Given the description of an element on the screen output the (x, y) to click on. 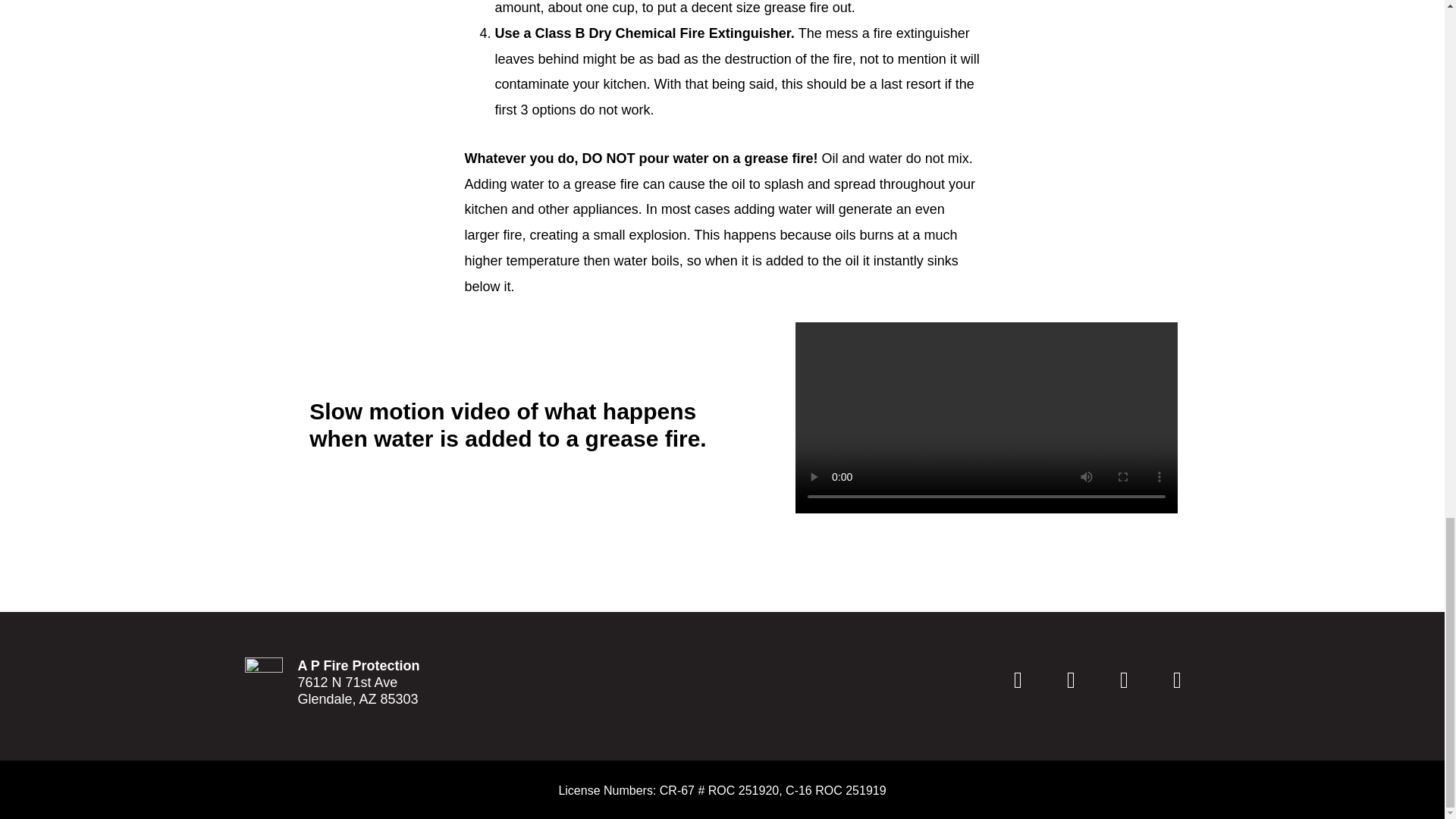
Instagram (1070, 679)
Twitter (1123, 679)
Facebook (1017, 679)
LinkedIn (1176, 679)
